Given the description of an element on the screen output the (x, y) to click on. 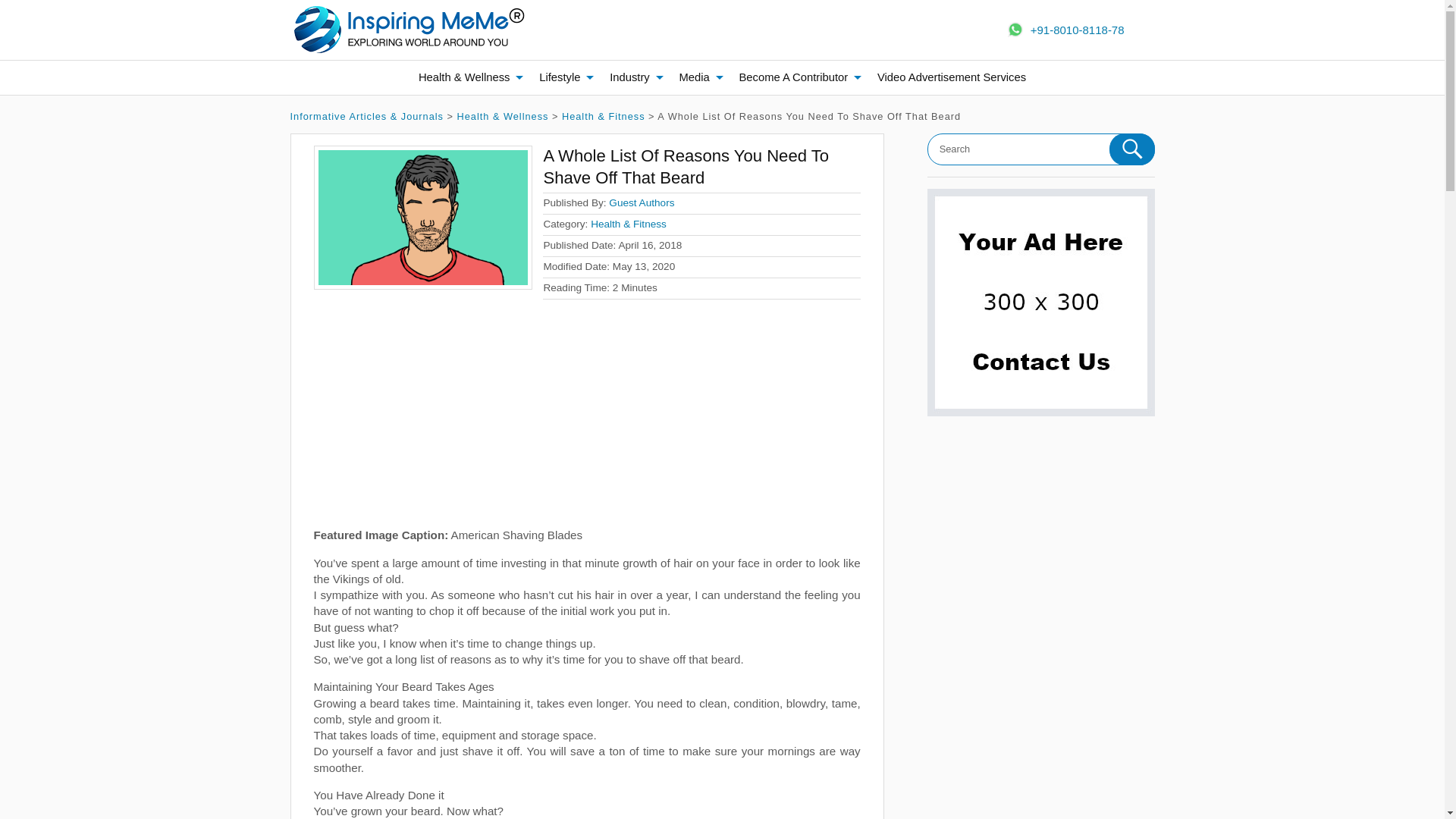
Advertisement (587, 420)
A Whole List of Reasons You Need to Shave Off That Beard (685, 166)
A Whole List of Reasons You Need to Shave Off That Beard (423, 217)
Posts by Guest Authors (641, 202)
